Given the description of an element on the screen output the (x, y) to click on. 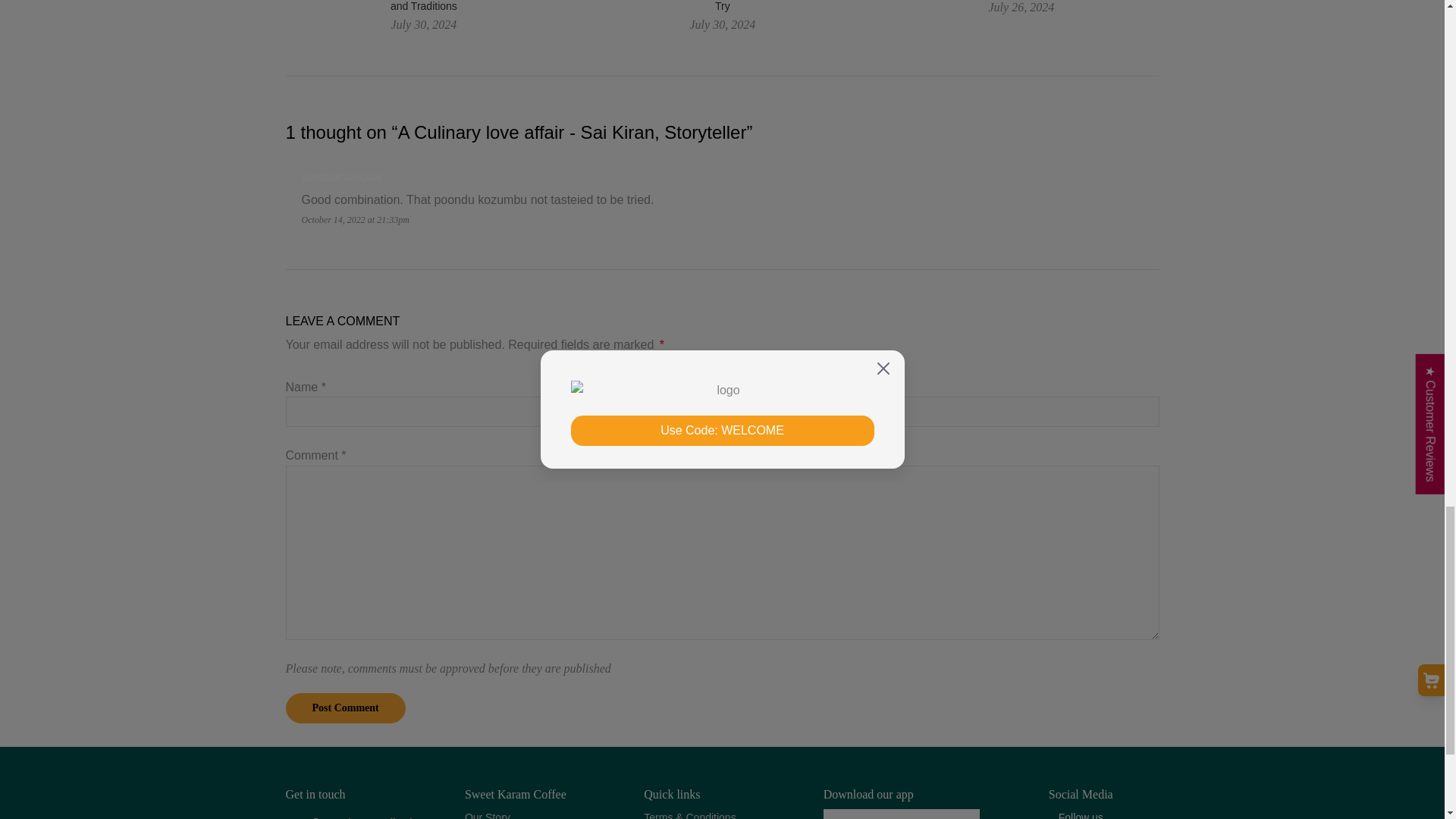
Post Comment (344, 707)
